Given the description of an element on the screen output the (x, y) to click on. 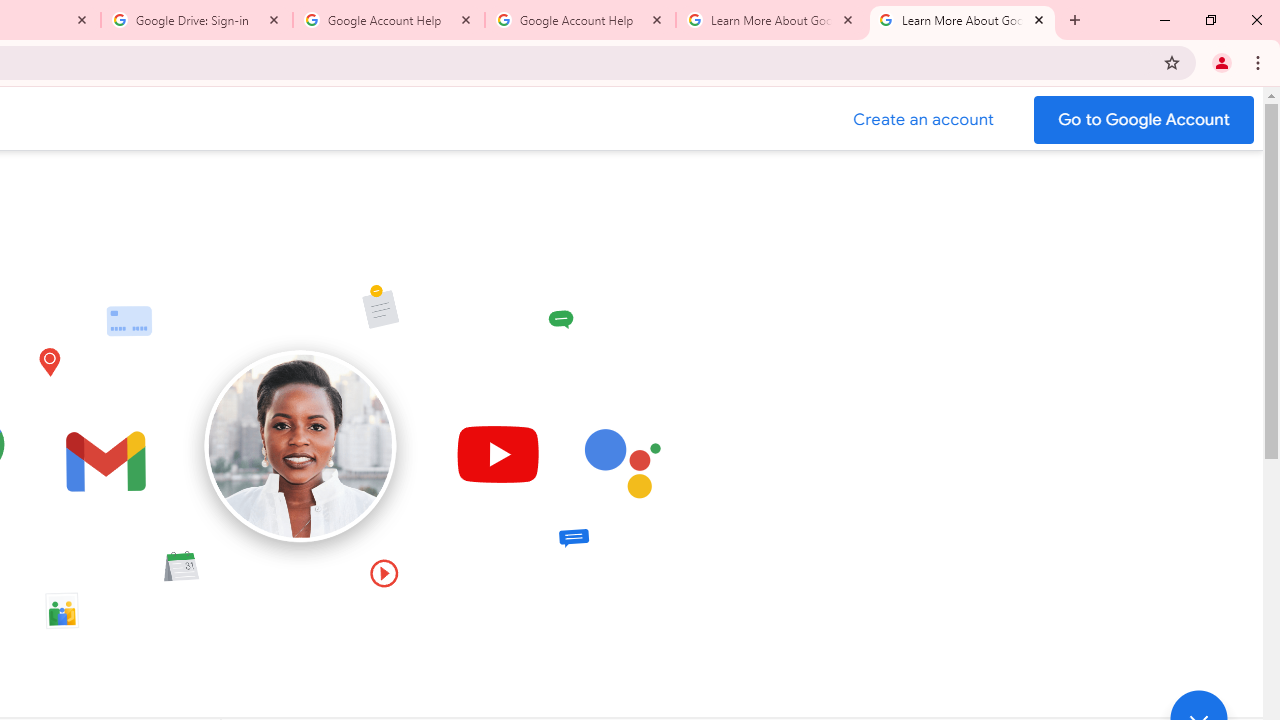
Create a Google Account (923, 119)
Google Account Help (580, 20)
Go to your Google Account (1144, 119)
Google Drive: Sign-in (197, 20)
Google Account Help (389, 20)
